Given the description of an element on the screen output the (x, y) to click on. 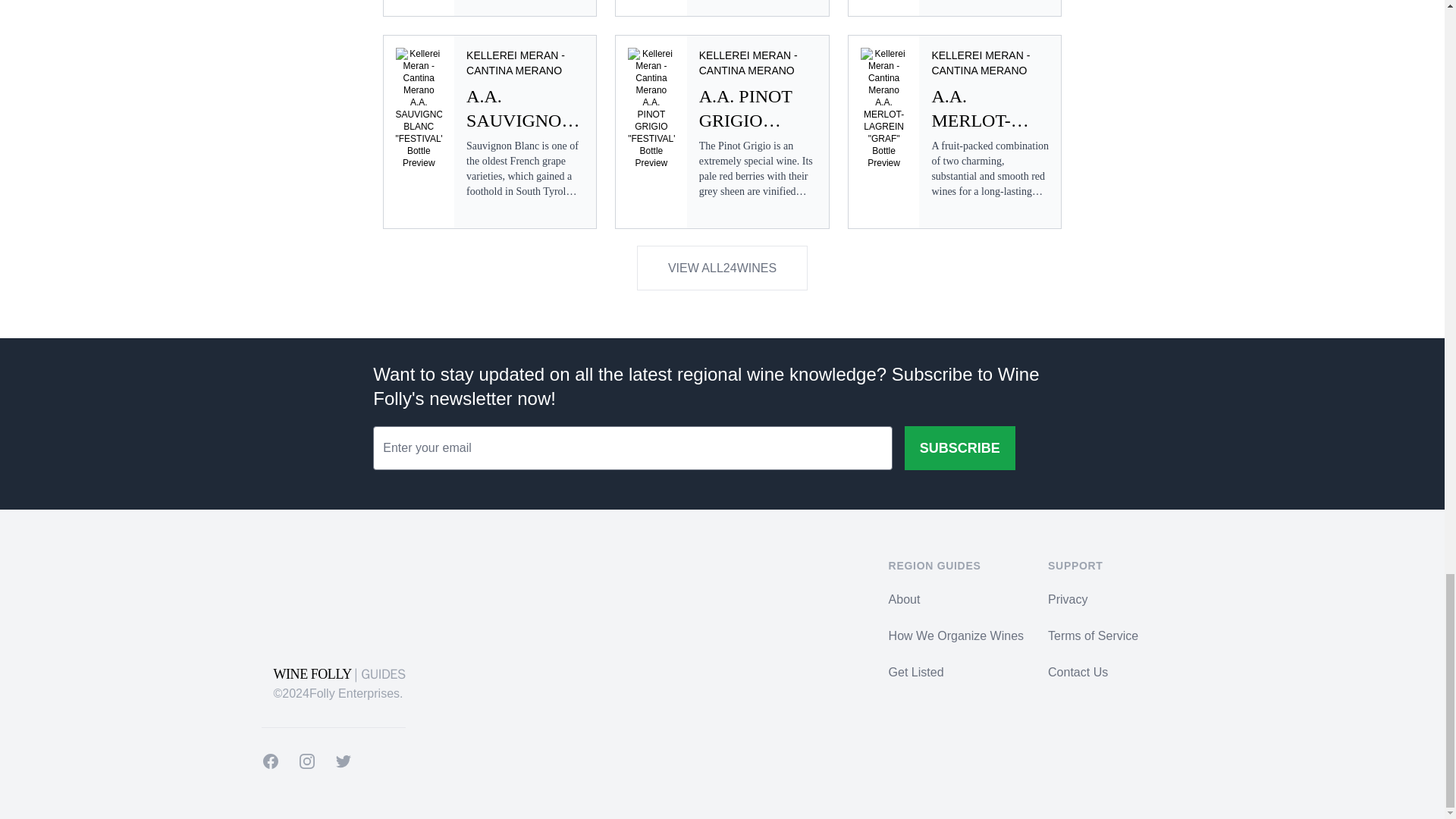
Privacy (1067, 599)
Twitter (342, 761)
VIEW ALL24WINES (722, 267)
Facebook (269, 761)
About (904, 599)
Instagram (306, 761)
Get Listed (915, 671)
